Given the description of an element on the screen output the (x, y) to click on. 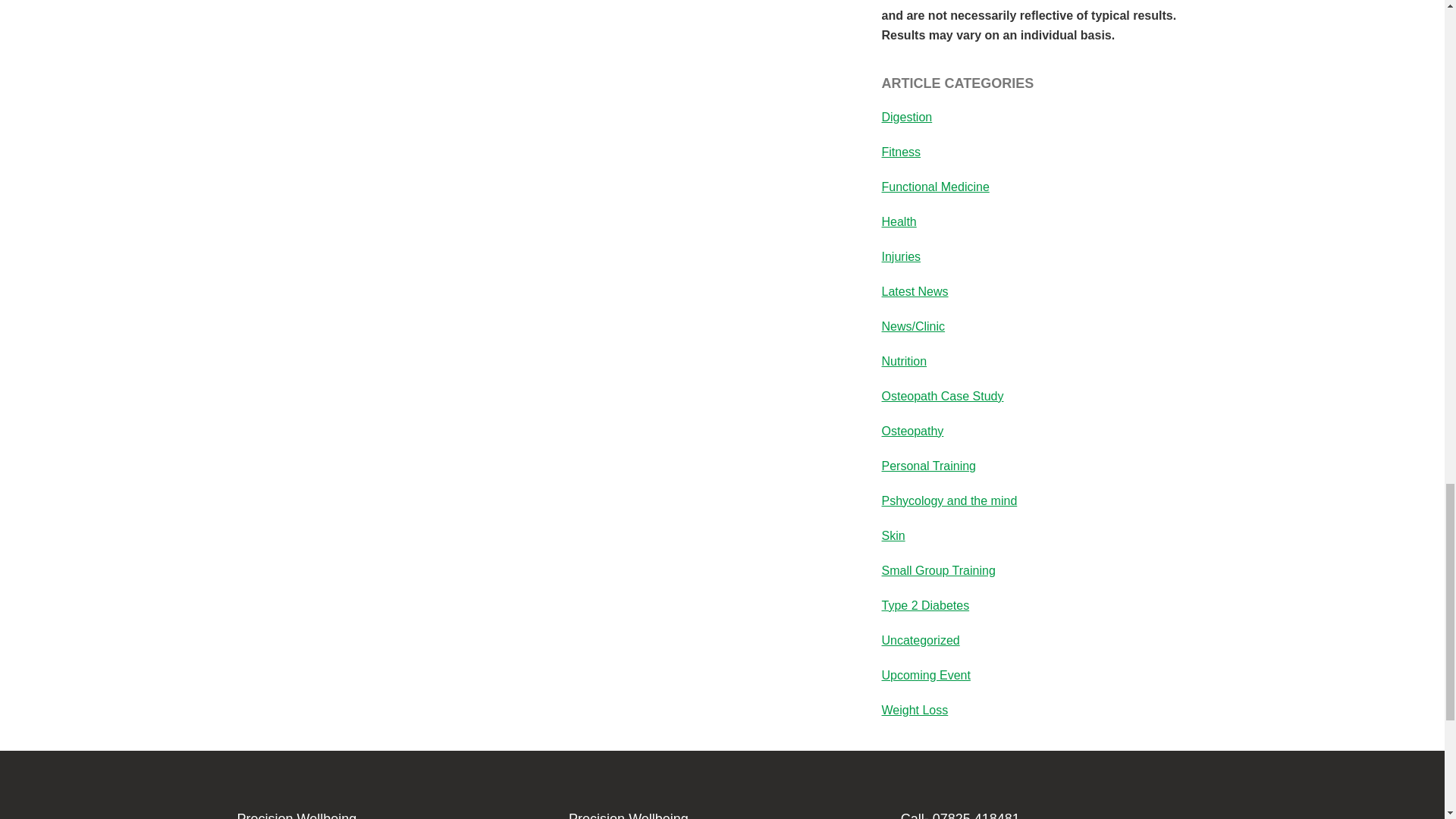
Health (897, 221)
Personal Training (927, 465)
Fitness (900, 151)
Latest News (913, 291)
Nutrition (903, 360)
Functional Medicine (934, 186)
Osteopathy (911, 431)
Injuries (900, 256)
Digestion (905, 116)
Osteopath Case Study (941, 395)
